Given the description of an element on the screen output the (x, y) to click on. 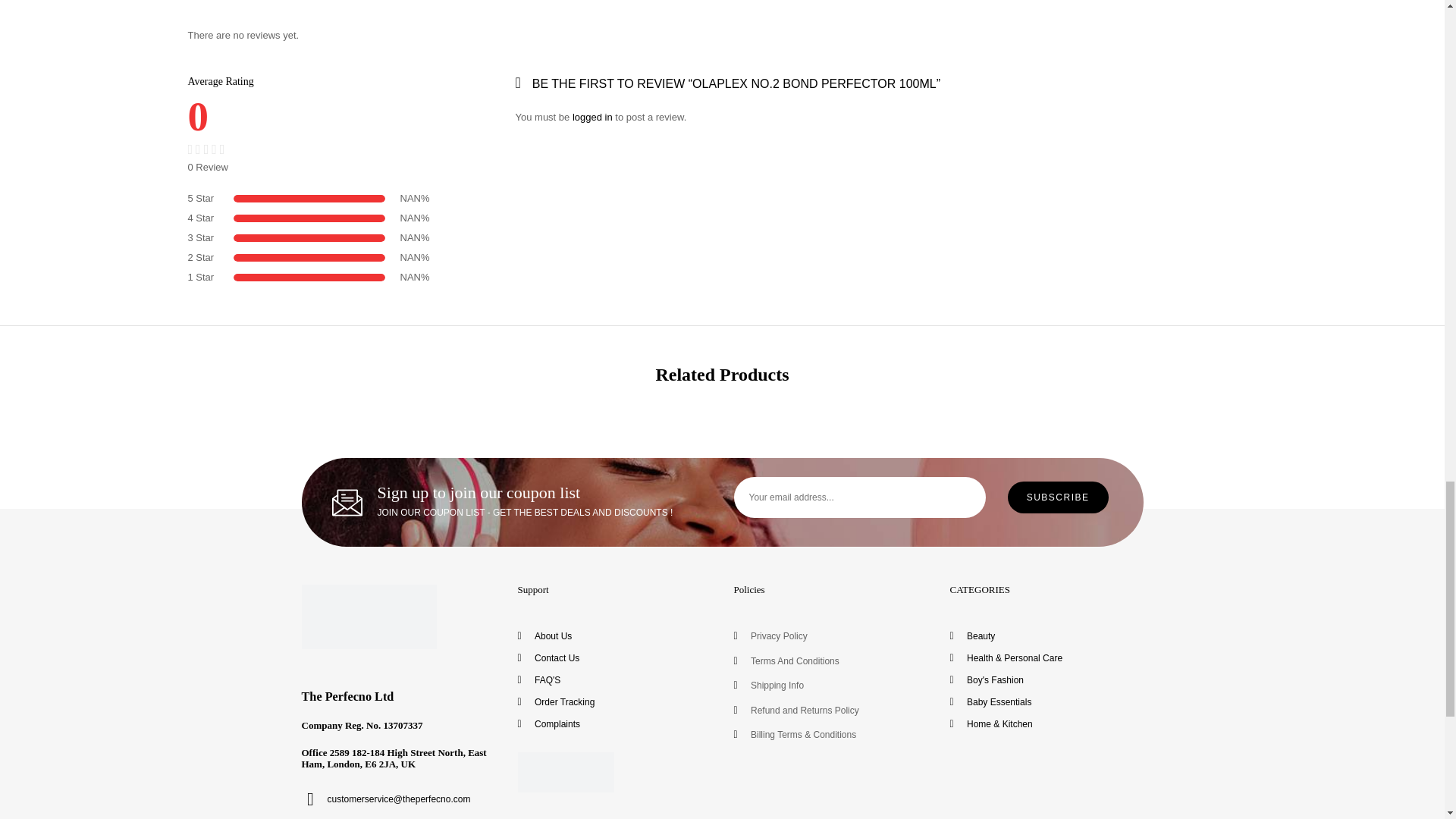
SUBSCRIBE (1057, 497)
